Given the description of an element on the screen output the (x, y) to click on. 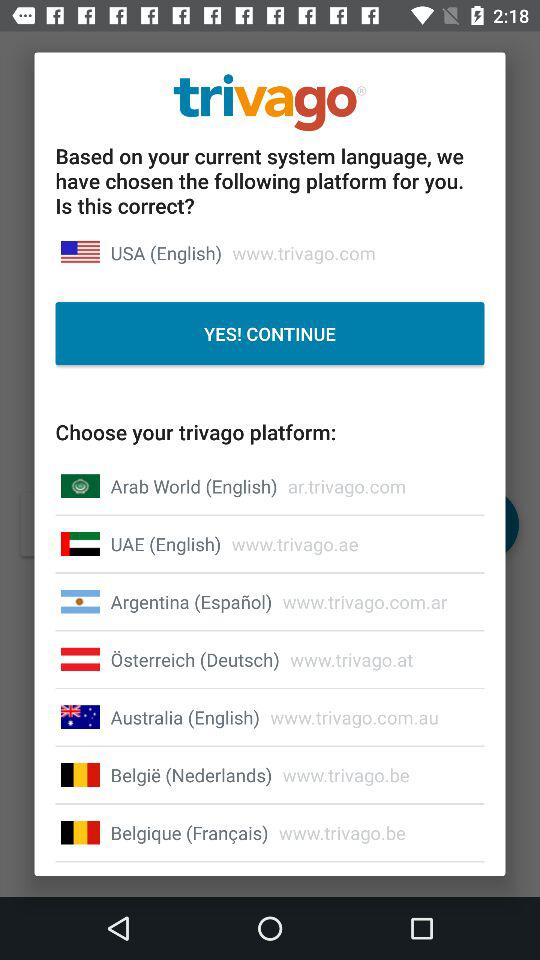
launch the item next to the www trivago com item (184, 717)
